Given the description of an element on the screen output the (x, y) to click on. 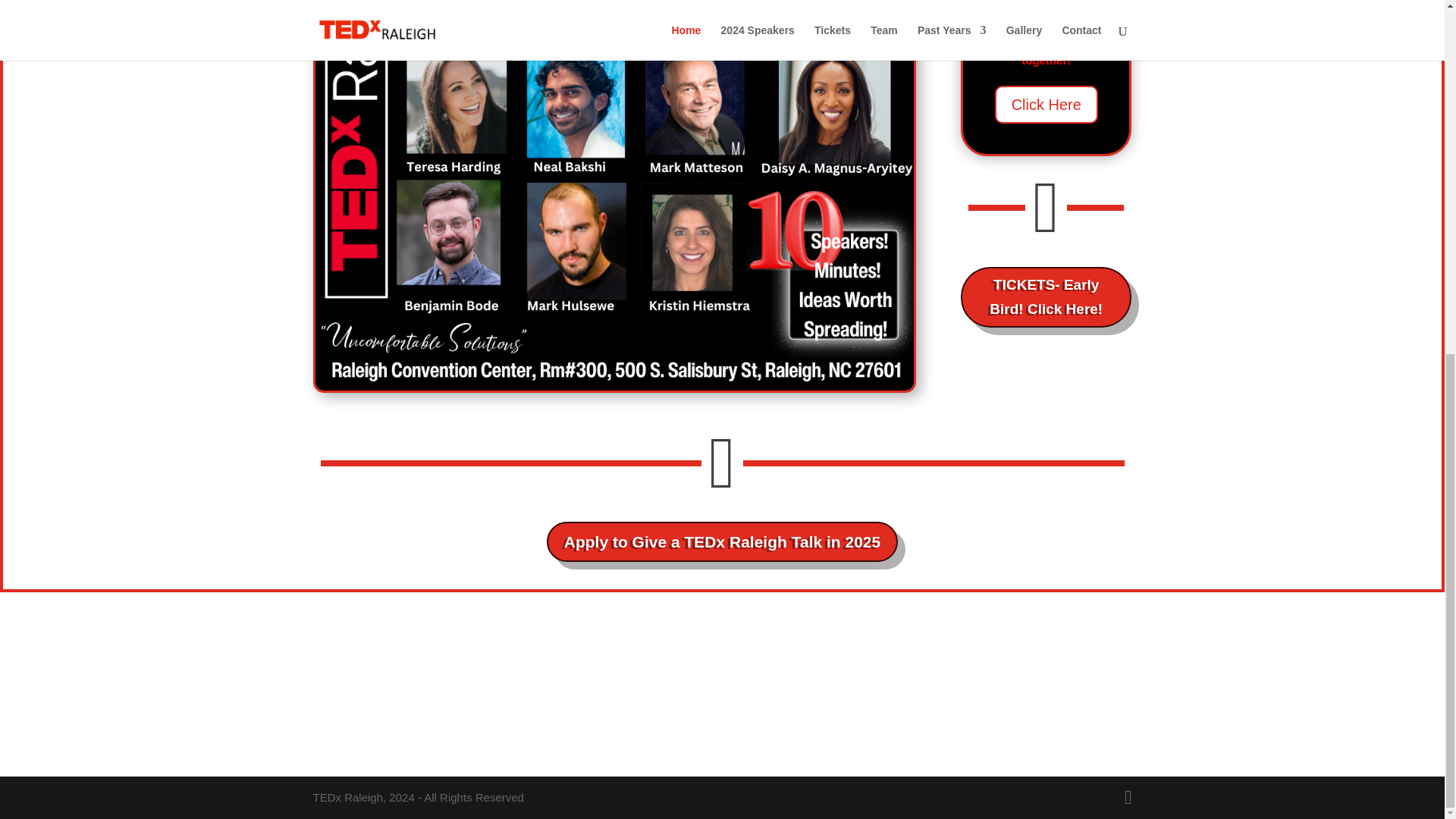
Click Here (1045, 104)
TICKETS- Early Bird! Click Here! (1045, 296)
